Given the description of an element on the screen output the (x, y) to click on. 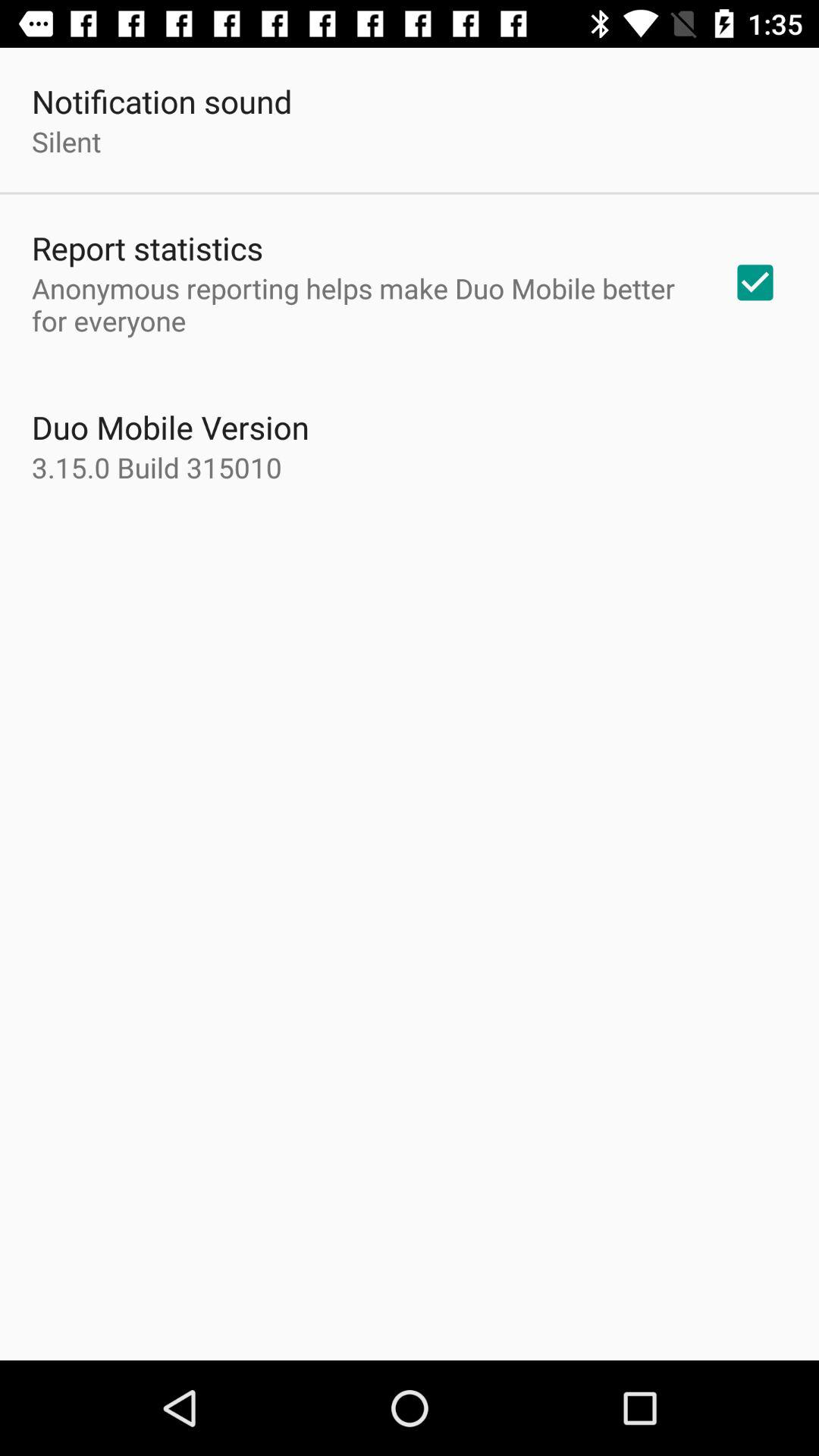
turn off the icon above the duo mobile version item (361, 304)
